Given the description of an element on the screen output the (x, y) to click on. 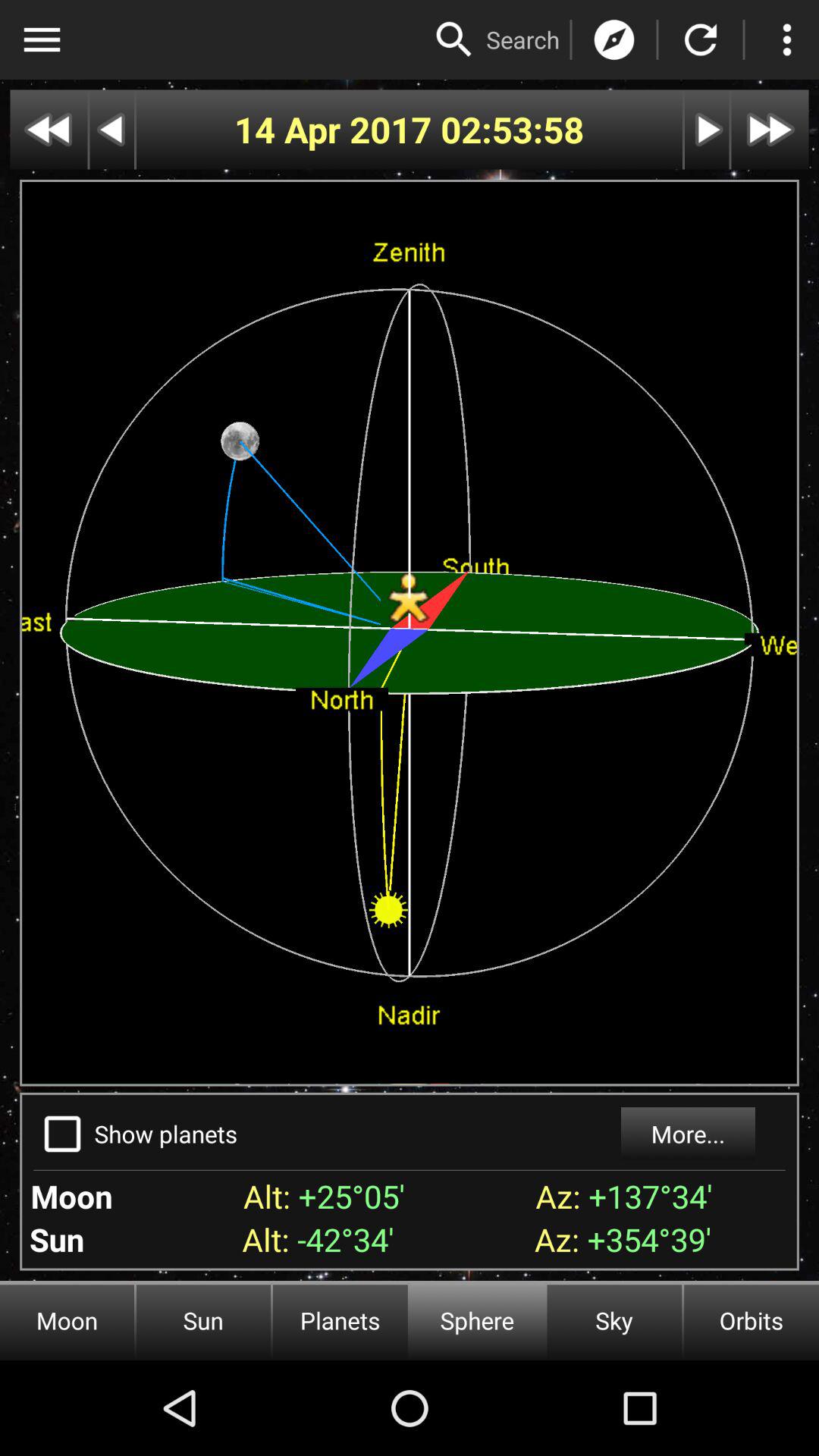
forward (706, 129)
